Given the description of an element on the screen output the (x, y) to click on. 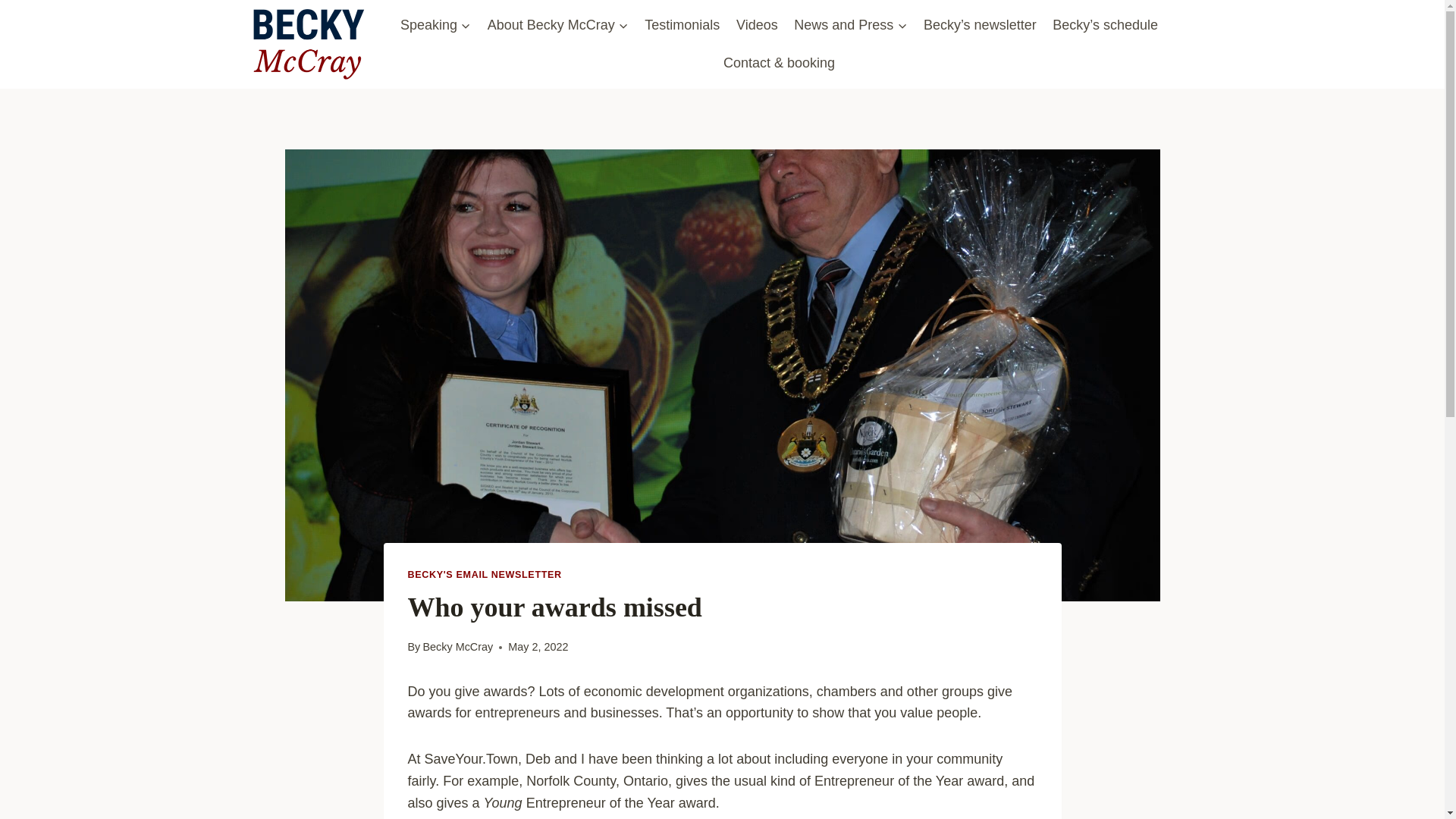
Testimonials (683, 24)
BECKY'S EMAIL NEWSLETTER (484, 574)
Becky McCray (457, 646)
News and Press (850, 24)
Speaking (435, 24)
Videos (757, 24)
About Becky McCray (558, 24)
